Given the description of an element on the screen output the (x, y) to click on. 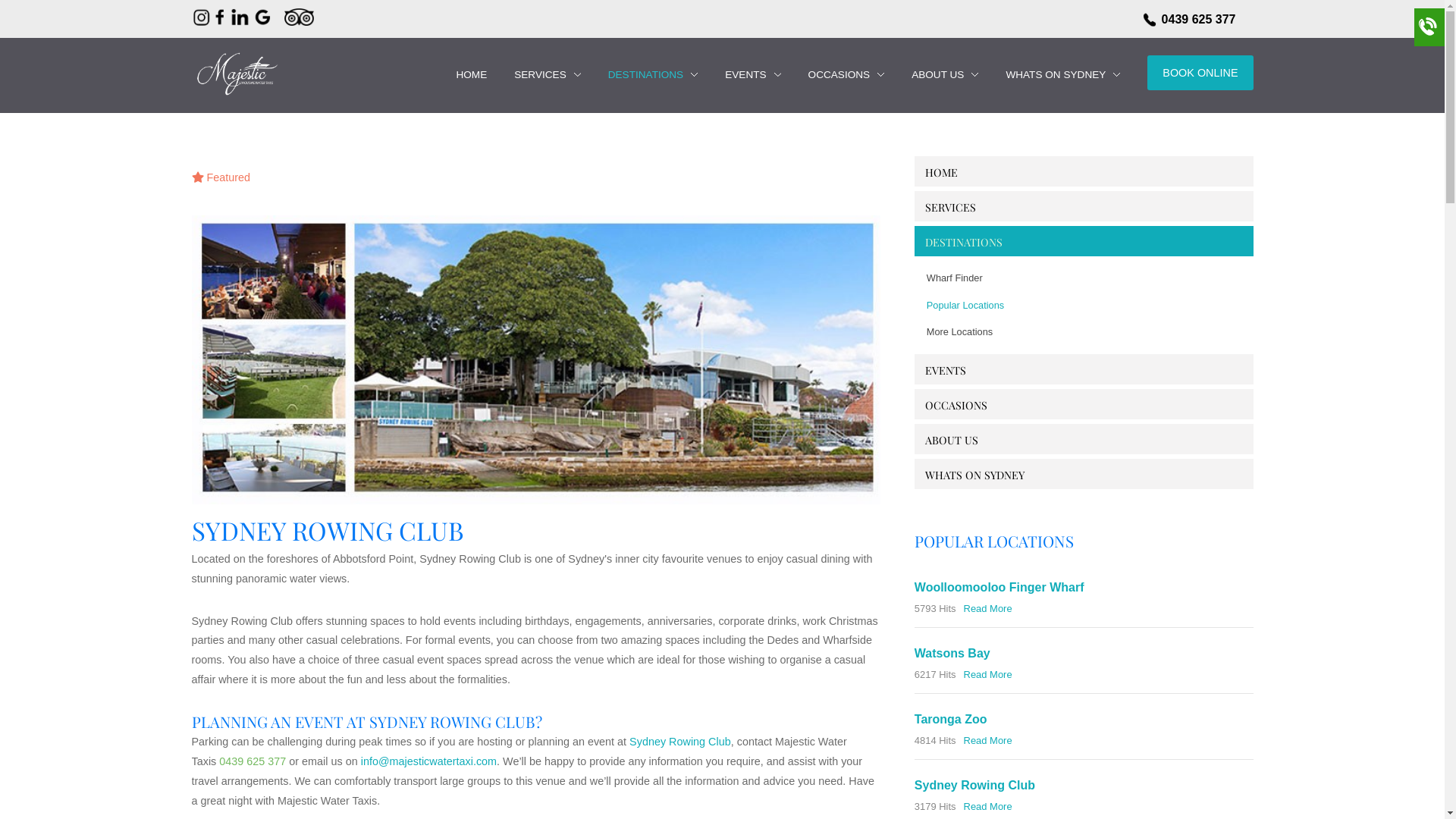
SERVICES Element type: text (540, 74)
BOOK ONLINE Element type: text (1199, 72)
DESTINATIONS Element type: text (652, 74)
WHATS ON SYDNEY Element type: text (974, 474)
Woolloomooloo Finger Wharf Element type: text (999, 586)
Sydney Rowing Club Element type: text (974, 784)
More Locations Element type: text (1100, 331)
WHATS ON SYDNEY Element type: text (1062, 74)
SERVICES Element type: text (950, 207)
Popular Locations Element type: text (1100, 305)
Majestic Water Taxis Element type: hover (235, 72)
DESTINATIONS Element type: text (963, 242)
Read More Element type: text (987, 806)
Wharf Finder Element type: text (1100, 277)
ABOUT US Element type: text (951, 440)
ABOUT US Element type: text (937, 74)
info@majesticwatertaxi.com Element type: text (428, 761)
DESTINATIONS Element type: text (645, 74)
OCCASIONS Element type: text (846, 74)
EVENTS Element type: text (752, 74)
SERVICES Element type: text (547, 74)
Watsons Bay Element type: text (952, 652)
OCCASIONS Element type: text (956, 405)
EVENTS Element type: text (945, 370)
Sydney Rowing Club Element type: hover (535, 359)
ABOUT US Element type: text (944, 74)
HOME Element type: text (941, 172)
Read More Element type: text (987, 740)
EVENTS Element type: text (744, 74)
Taronga Zoo Element type: text (950, 718)
HOME Element type: text (470, 74)
Read More Element type: text (987, 674)
HOME Element type: text (470, 74)
Read More Element type: text (987, 608)
WHATS ON SYDNEY Element type: text (1055, 74)
OCCASIONS Element type: text (839, 74)
Sydney Rowing Club Element type: text (680, 741)
  Element type: text (235, 83)
